Given the description of an element on the screen output the (x, y) to click on. 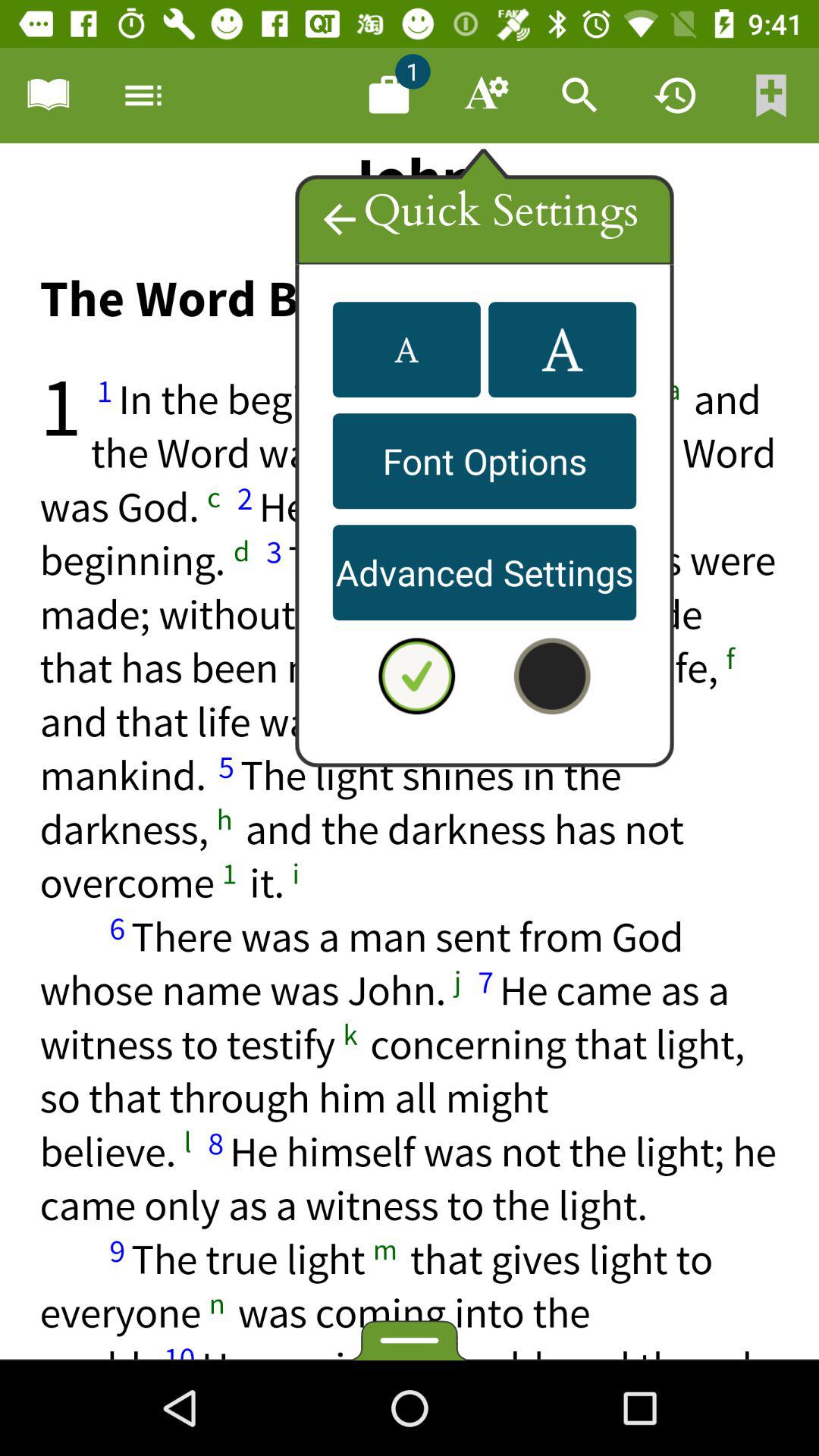
select color (552, 676)
